Given the description of an element on the screen output the (x, y) to click on. 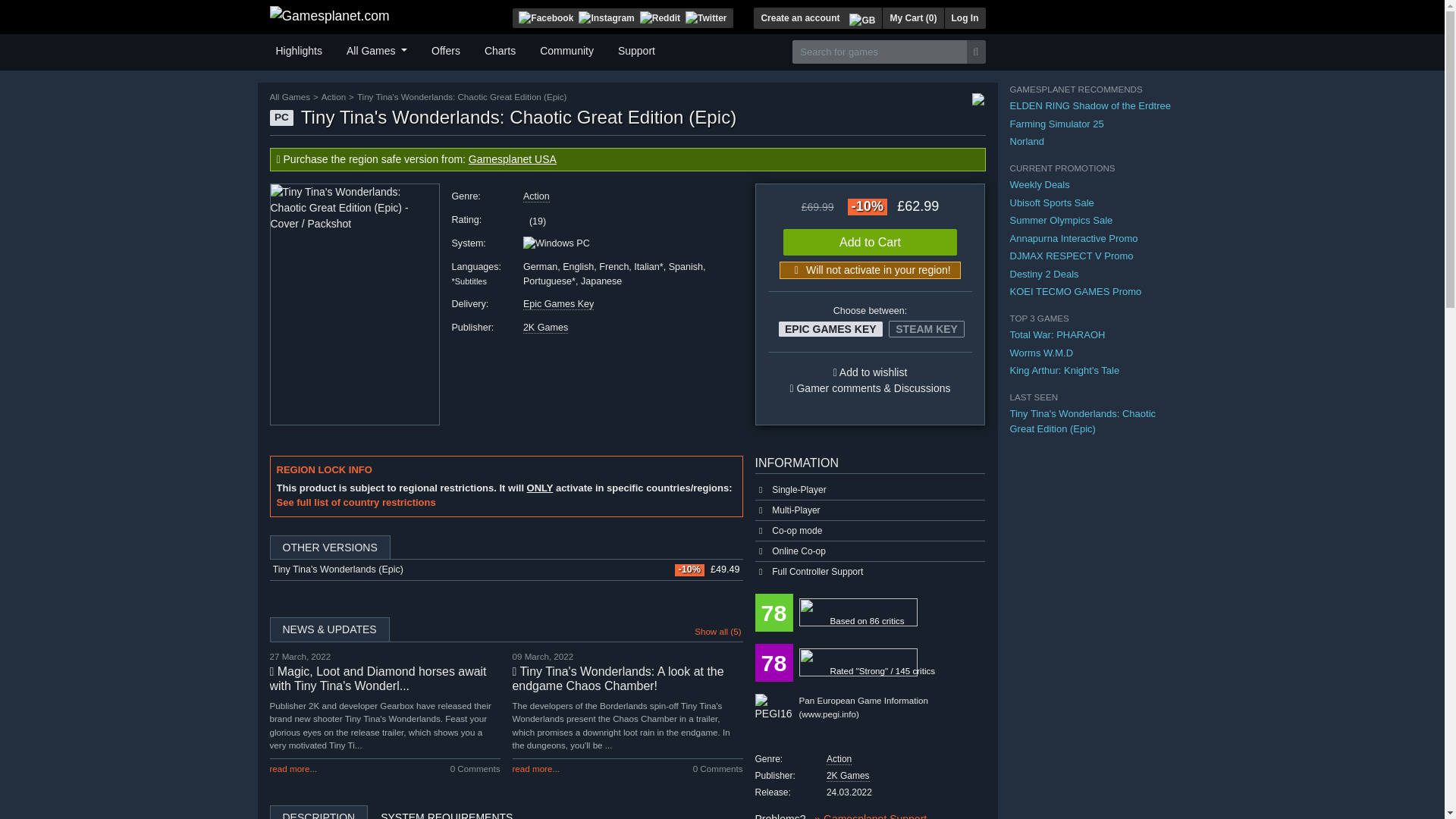
OTHER VERSIONS (505, 547)
Highlights (299, 48)
Log In (964, 17)
Create an account (800, 17)
All Games (376, 48)
